Given the description of an element on the screen output the (x, y) to click on. 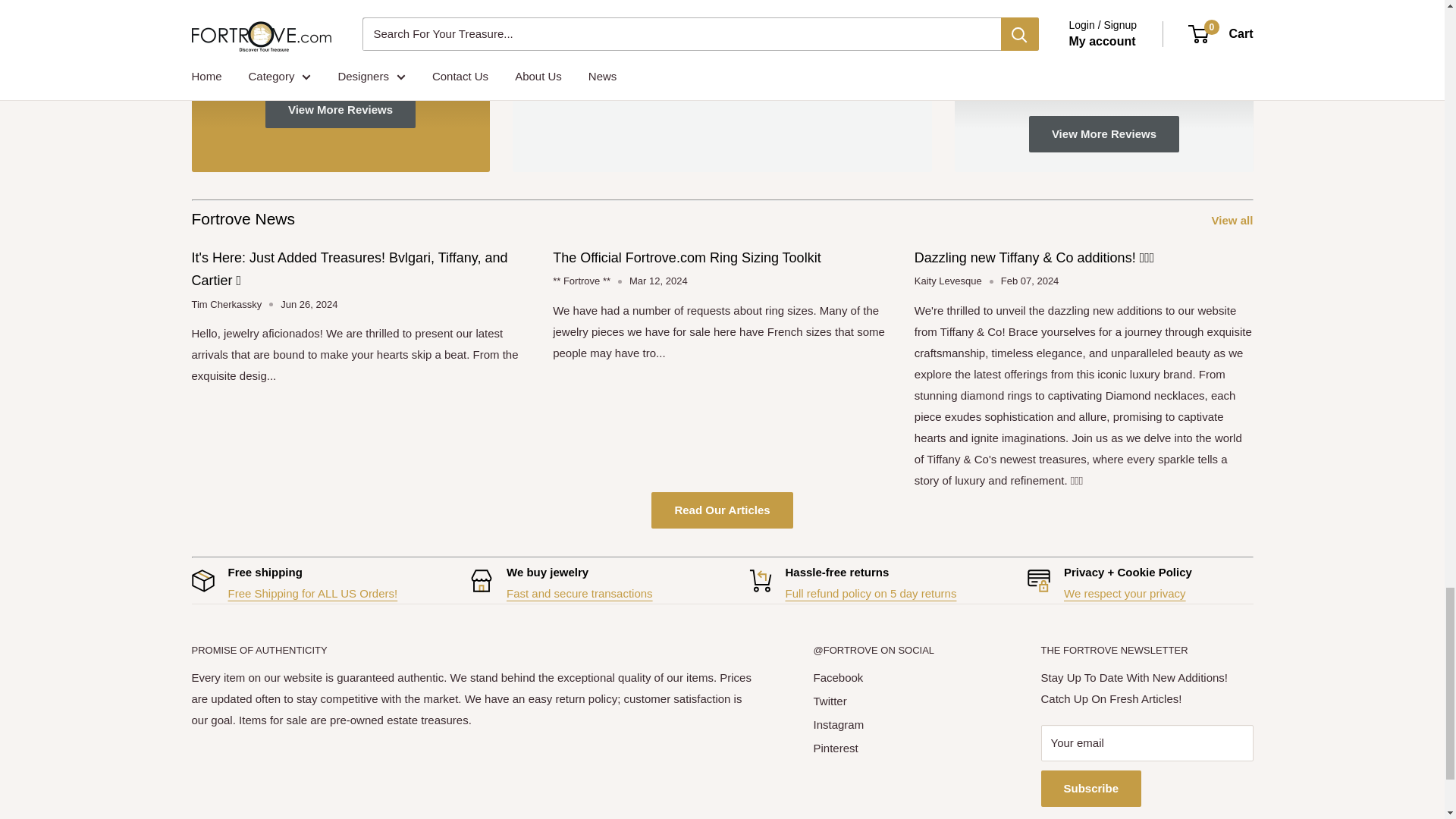
Privacy Policy (1125, 593)
Shipping (312, 593)
Returns (871, 593)
Selling (579, 593)
